Given the description of an element on the screen output the (x, y) to click on. 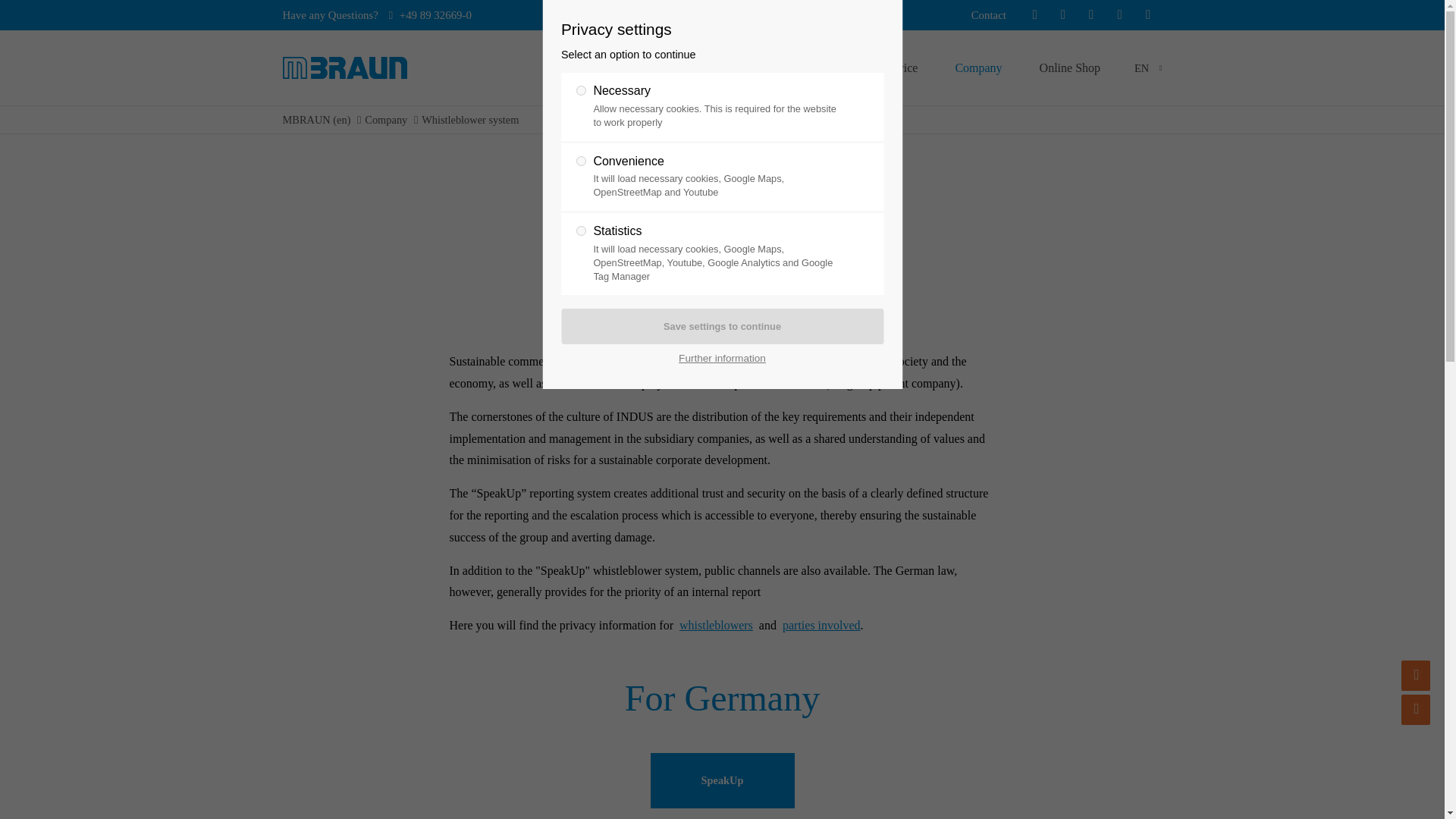
2 (580, 161)
Save settings to continue (721, 325)
1 (580, 90)
3 (580, 230)
